Given the description of an element on the screen output the (x, y) to click on. 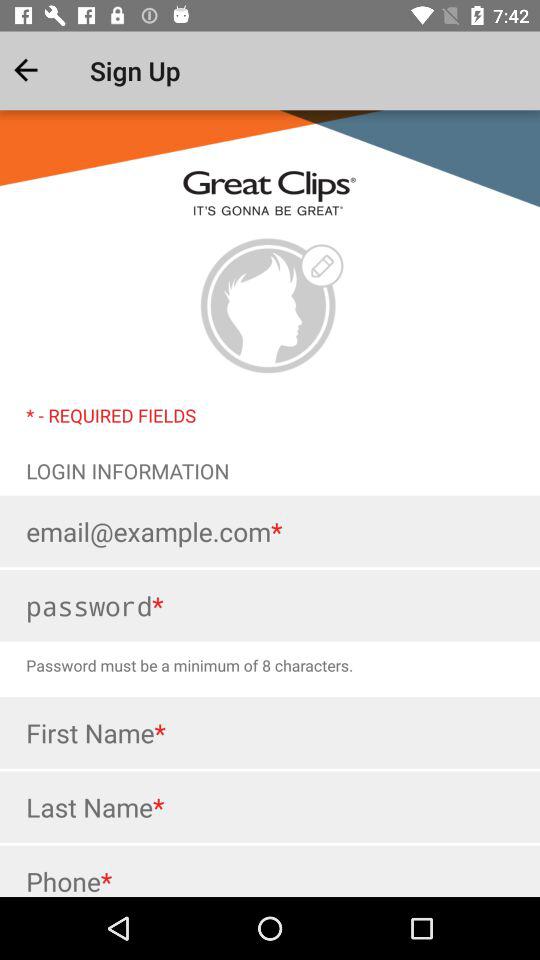
enter phone number (269, 871)
